Given the description of an element on the screen output the (x, y) to click on. 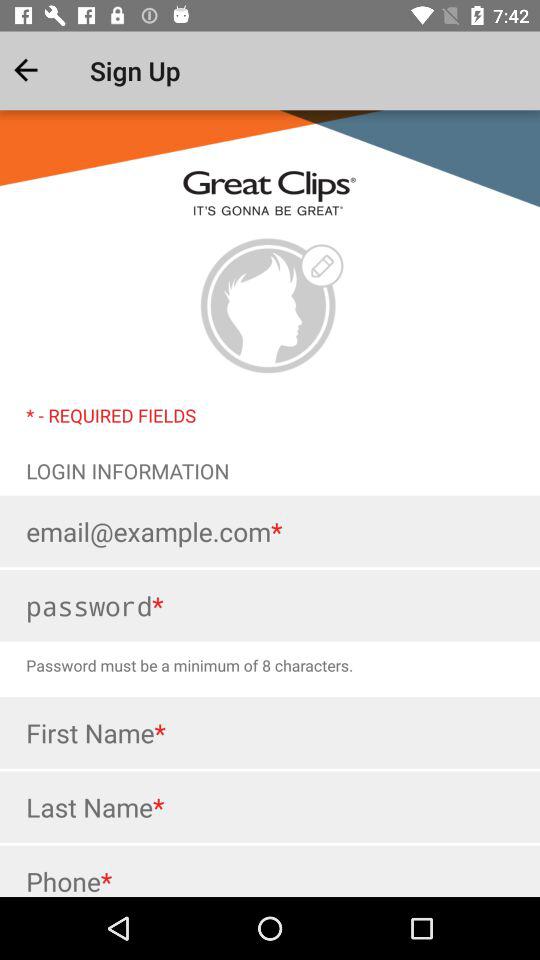
enter phone number (269, 871)
